Given the description of an element on the screen output the (x, y) to click on. 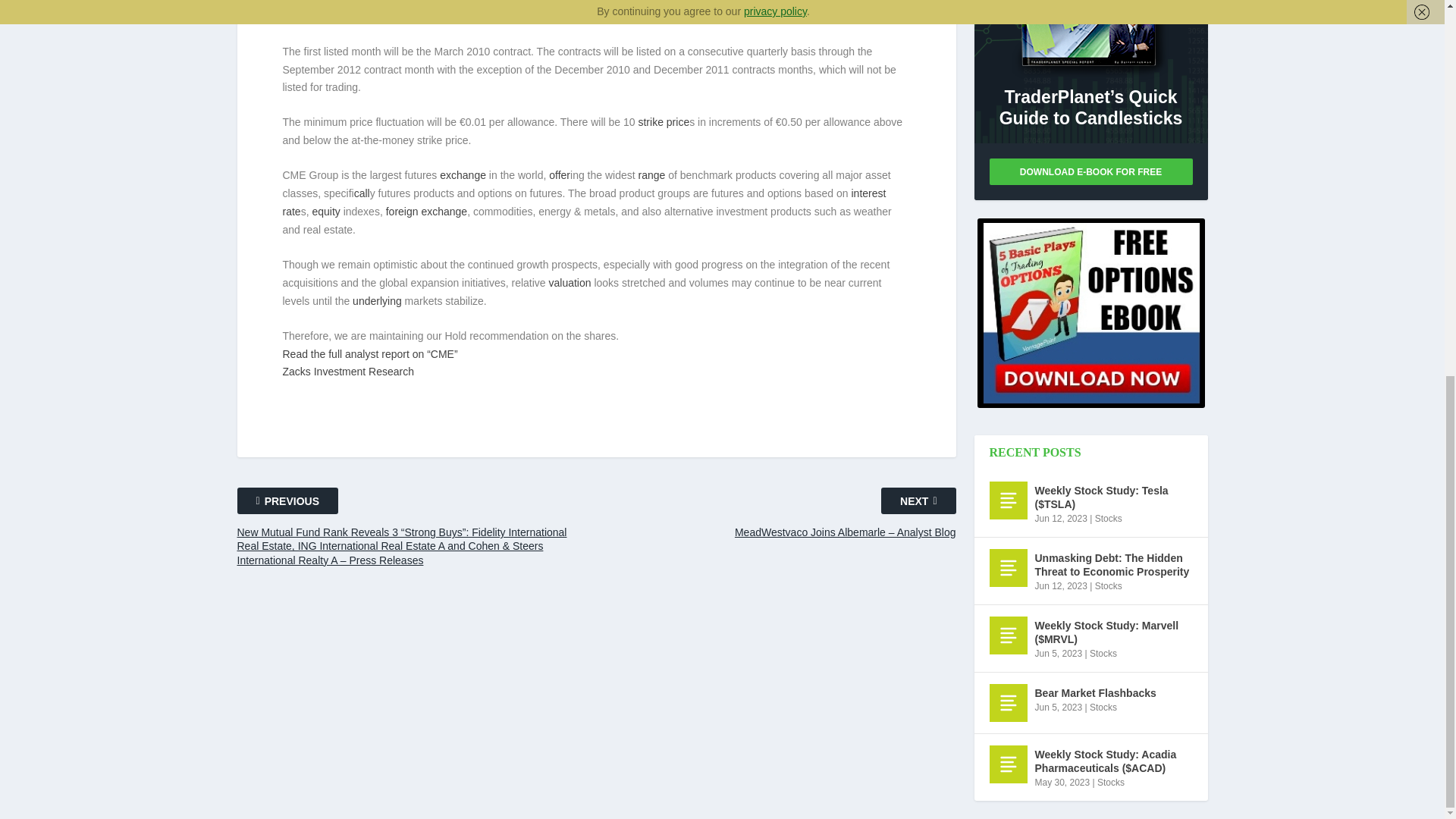
Bear Market Flashbacks (1007, 702)
time value (862, 2)
exchange (462, 174)
offer (559, 174)
call (361, 193)
strike price (662, 121)
rally (481, 2)
Unmasking Debt: The Hidden Threat to Economic Prosperity (1007, 567)
range (652, 174)
